Given the description of an element on the screen output the (x, y) to click on. 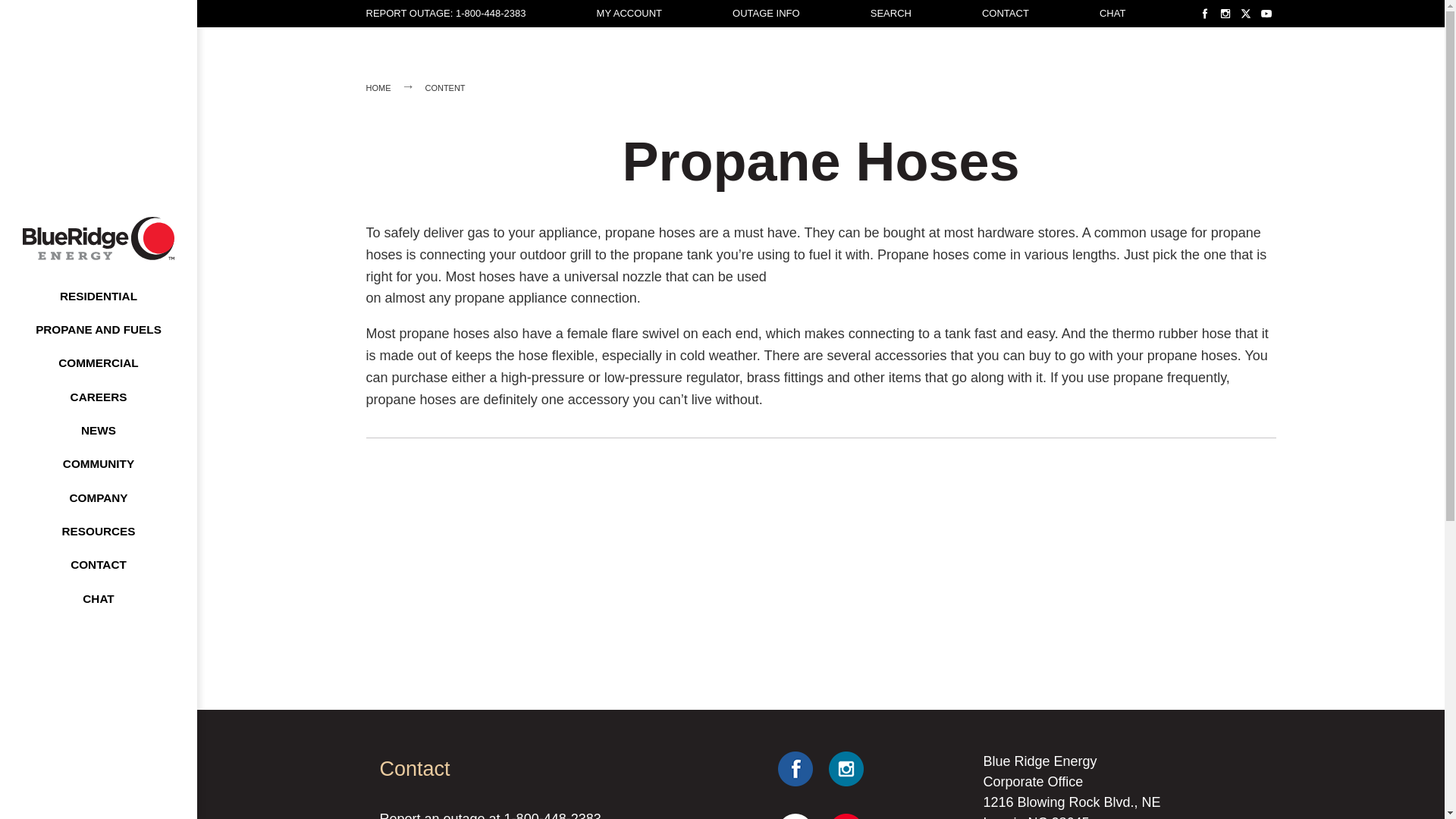
Blue Ridge Energy (98, 238)
COMMERCIAL (97, 363)
CAREERS (98, 396)
COMPANY (97, 497)
PROPANE AND FUELS (98, 329)
Blue Ridge Energy (98, 238)
COMMUNITY (98, 463)
NEWS (98, 430)
RESIDENTIAL (98, 295)
